Given the description of an element on the screen output the (x, y) to click on. 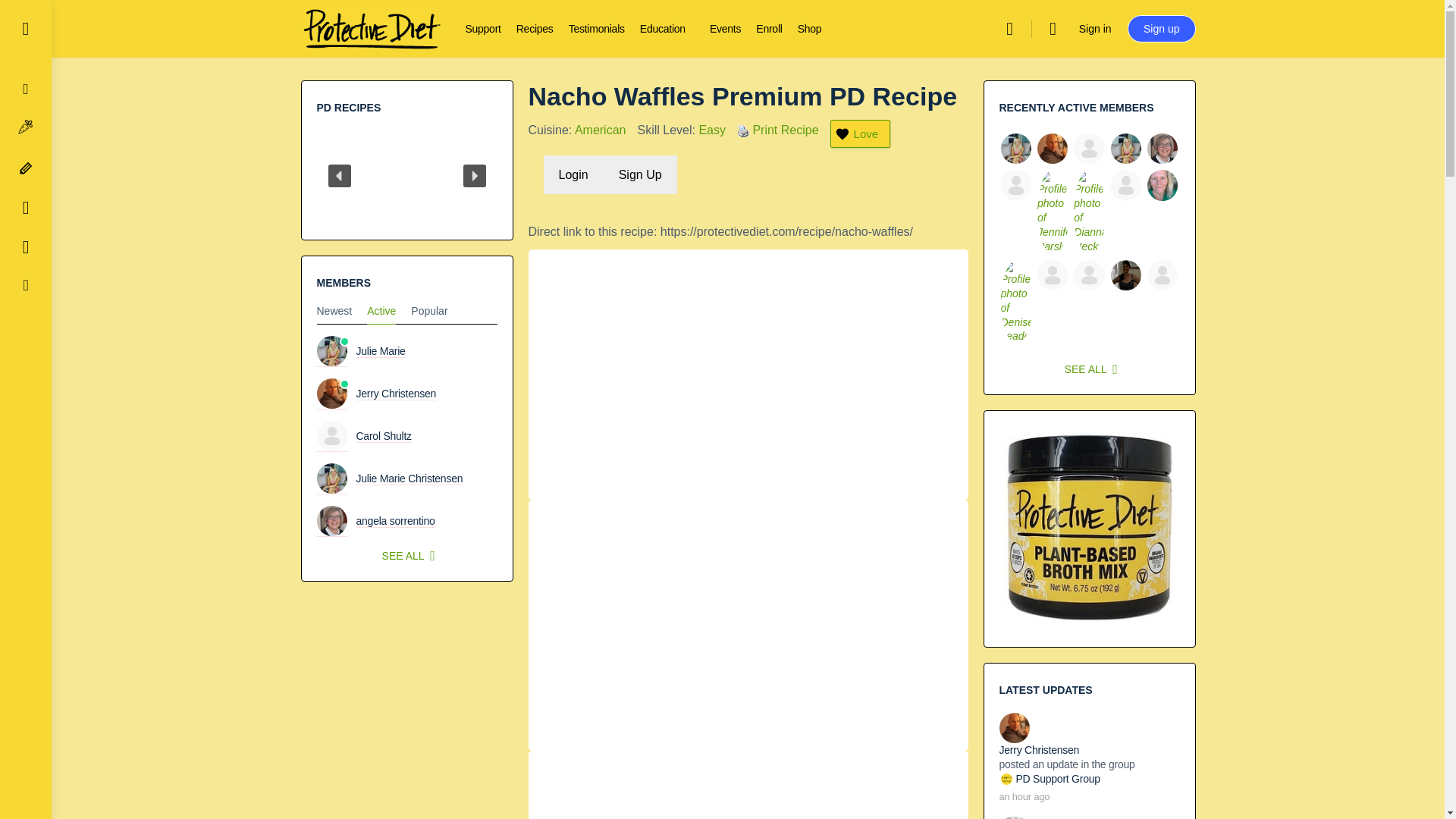
Testimonials (596, 28)
Sign in (1095, 28)
Print Recipe (785, 129)
Print Recipe (742, 131)
Sign up (1160, 28)
Print Recipe (742, 129)
